Given the description of an element on the screen output the (x, y) to click on. 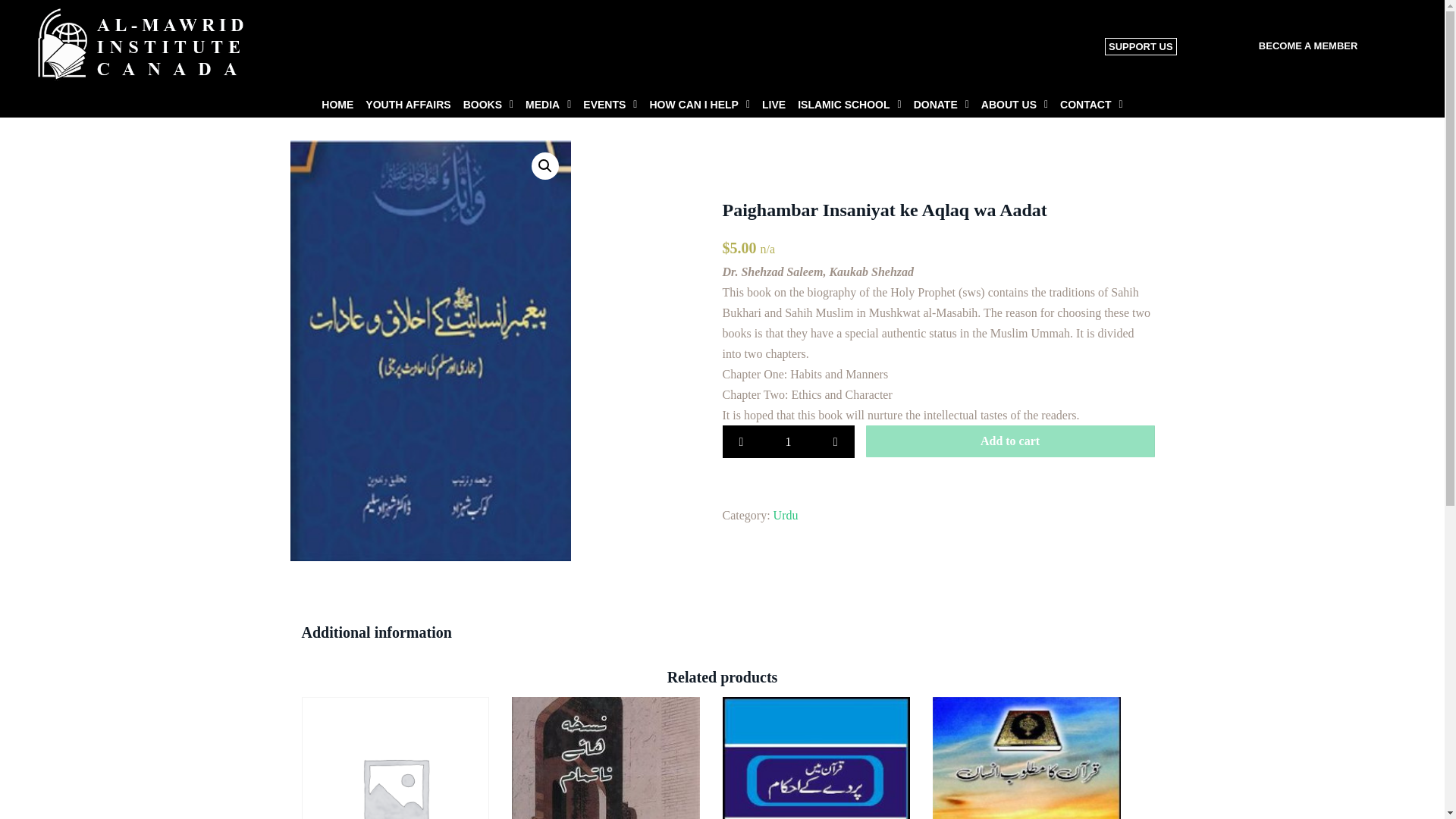
BOOKS (488, 104)
LIVE (773, 104)
EVENTS (609, 104)
ABOUT US (1014, 104)
DONATE (941, 104)
MEDIA (547, 104)
CONTACT (1091, 104)
YOUTH AFFAIRS (408, 104)
1 (787, 441)
SUPPORT US (1140, 46)
HOW CAN I HELP (699, 104)
ISLAMIC SCHOOL (849, 104)
BECOME A MEMBER (1308, 45)
HOME (337, 104)
